Given the description of an element on the screen output the (x, y) to click on. 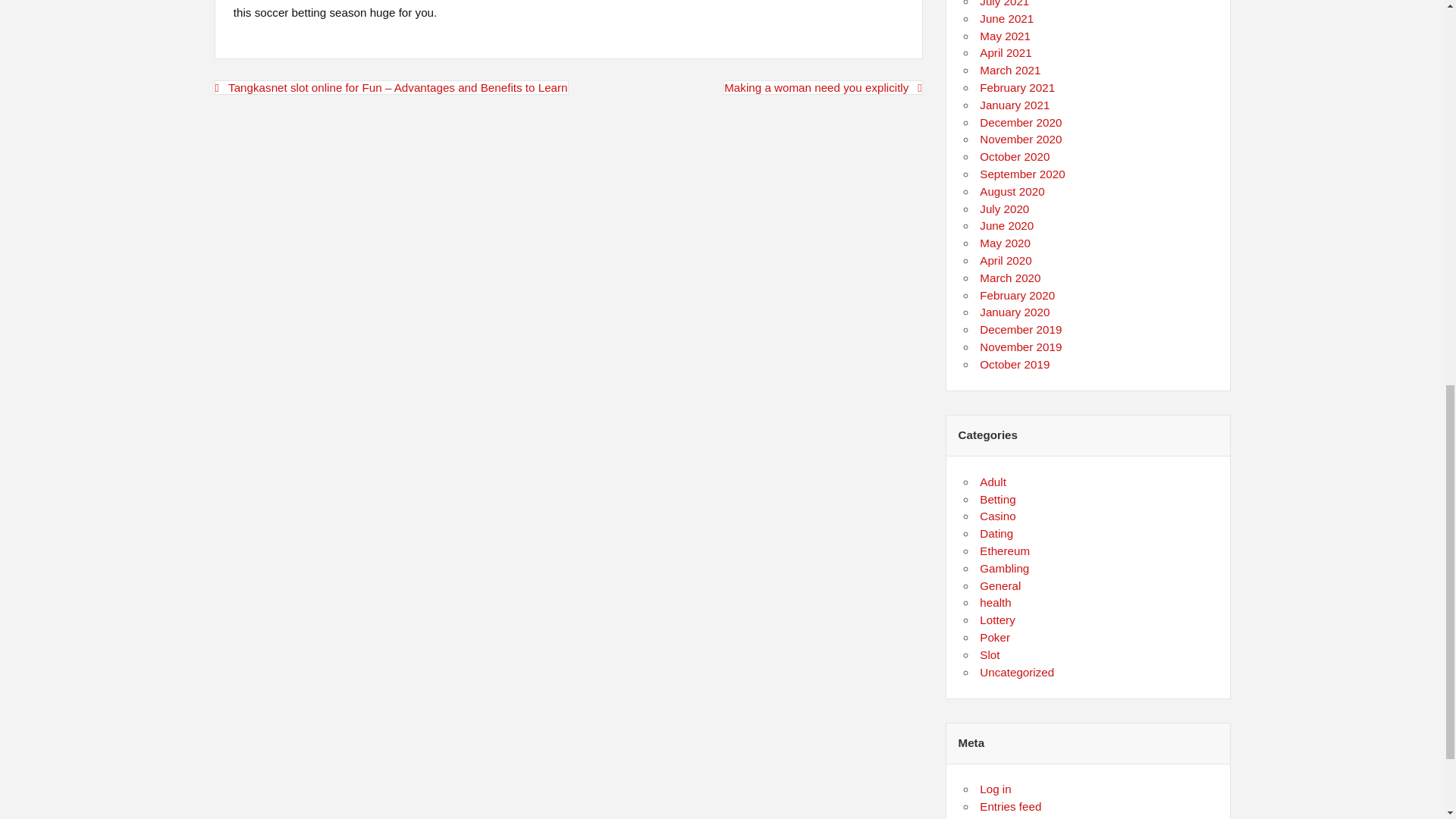
Making a woman need you explicitly (823, 87)
